Given the description of an element on the screen output the (x, y) to click on. 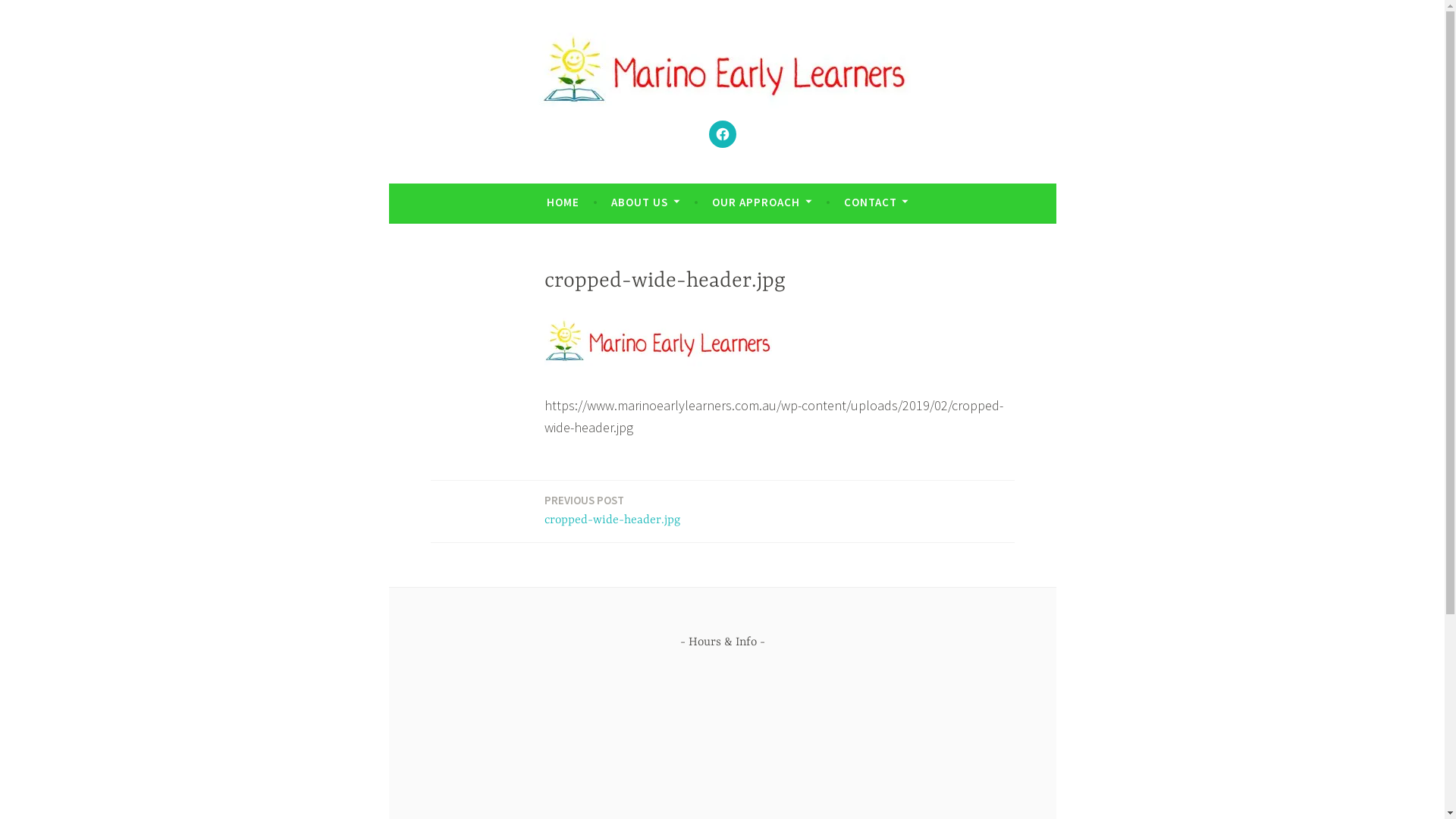
OUR APPROACH Element type: text (761, 202)
CONTACT Element type: text (876, 202)
Facebook Element type: text (721, 133)
PREVIOUS POST
cropped-wide-header.jpg Element type: text (612, 511)
ABOUT US Element type: text (645, 202)
Marino Early Learners Element type: text (586, 143)
HOME Element type: text (562, 202)
